Given the description of an element on the screen output the (x, y) to click on. 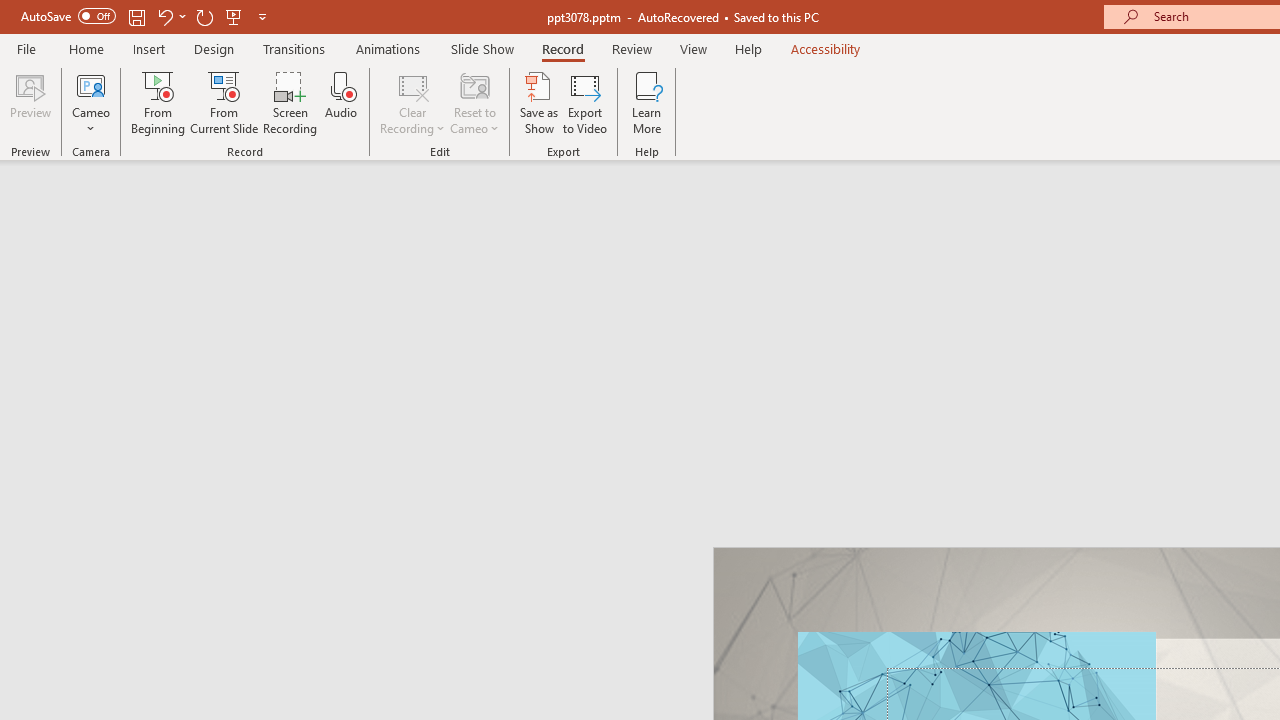
Screen Recording (290, 102)
Reset to Cameo (474, 102)
From Current Slide... (224, 102)
